Given the description of an element on the screen output the (x, y) to click on. 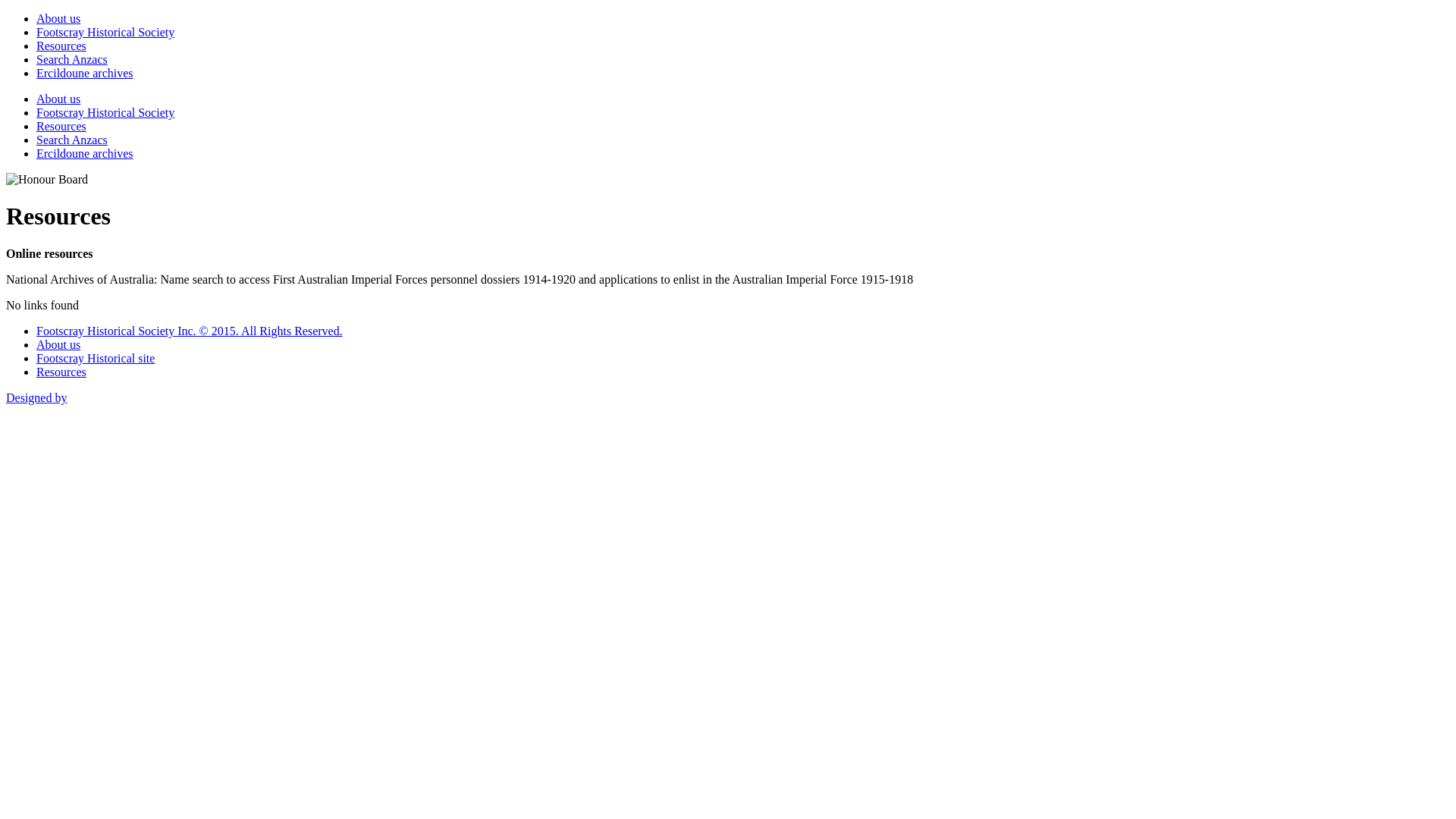
About us Element type: text (58, 98)
About us Element type: text (58, 344)
Footscray Historical site Element type: text (95, 357)
Resources Element type: text (61, 371)
Ercildoune archives Element type: text (84, 153)
Search Anzacs Element type: text (71, 139)
Ercildoune archives Element type: text (84, 72)
Resources Element type: text (61, 45)
Designed by Element type: text (36, 397)
About us Element type: text (58, 18)
Footscray Historical Society Element type: text (105, 112)
Resources Element type: text (61, 125)
Footscray Historical Society Element type: text (105, 31)
Search Anzacs Element type: text (71, 59)
